Given the description of an element on the screen output the (x, y) to click on. 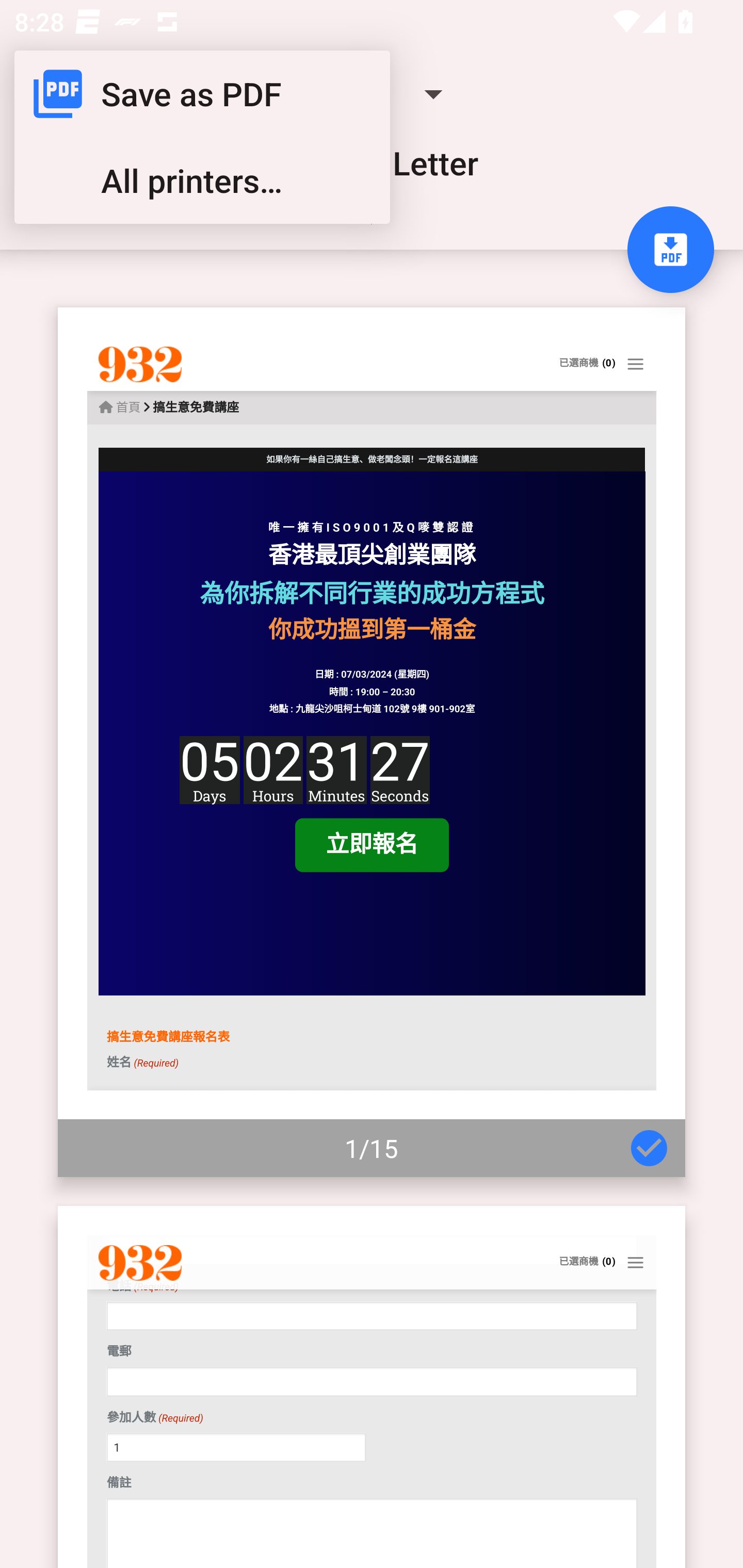
Save as PDF (202, 93)
All printers… (202, 180)
